Given the description of an element on the screen output the (x, y) to click on. 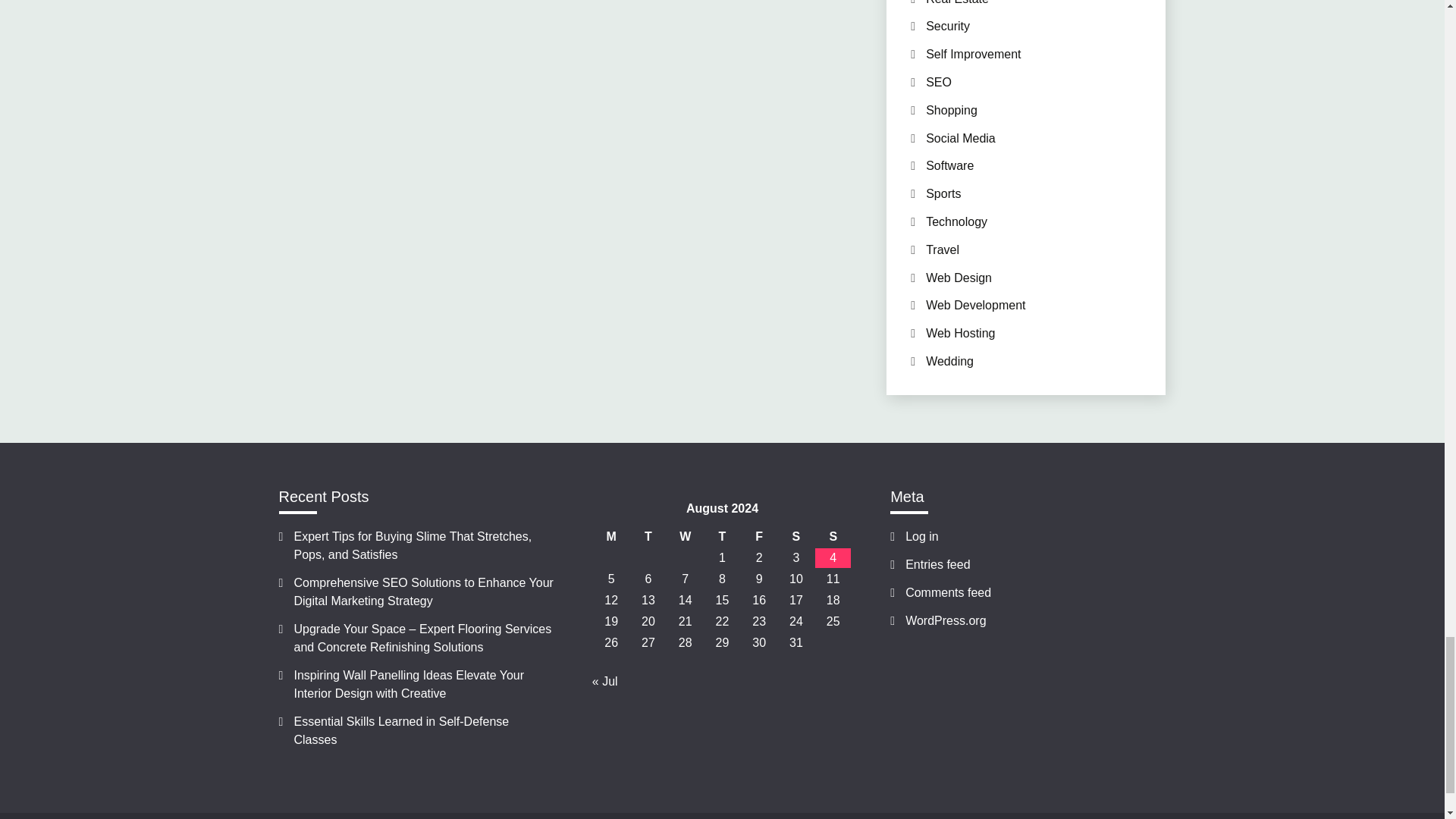
Friday (759, 537)
Thursday (721, 537)
Monday (611, 537)
Sunday (832, 537)
Saturday (795, 537)
Tuesday (648, 537)
Wednesday (684, 537)
